Given the description of an element on the screen output the (x, y) to click on. 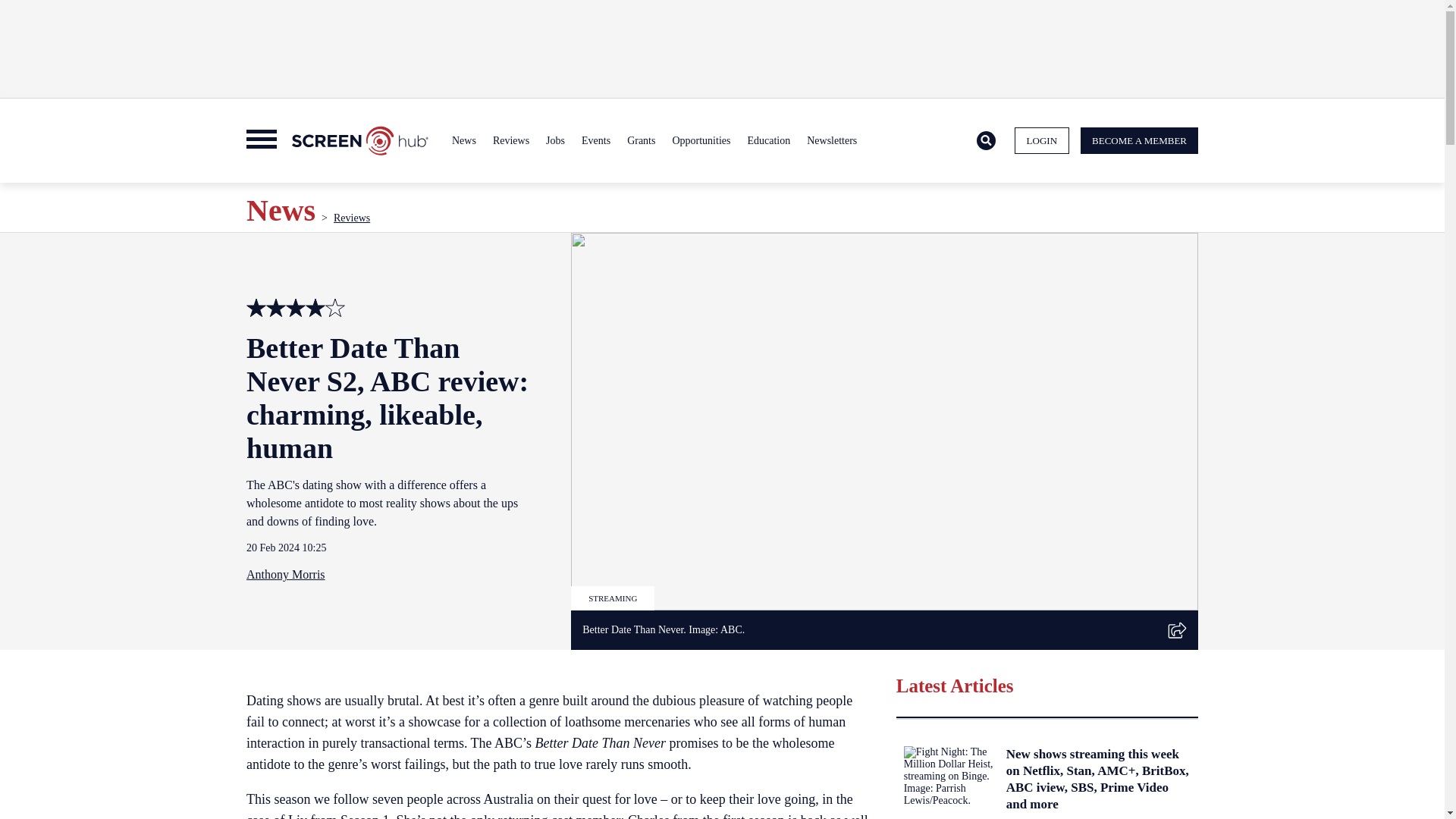
Opportunities (700, 140)
Education (768, 140)
Newsletters (832, 140)
Reviews (510, 140)
Stars (334, 307)
Stars (314, 307)
Events (595, 140)
Search Icon (985, 140)
Jobs (555, 140)
Search Icon (985, 140)
